Given the description of an element on the screen output the (x, y) to click on. 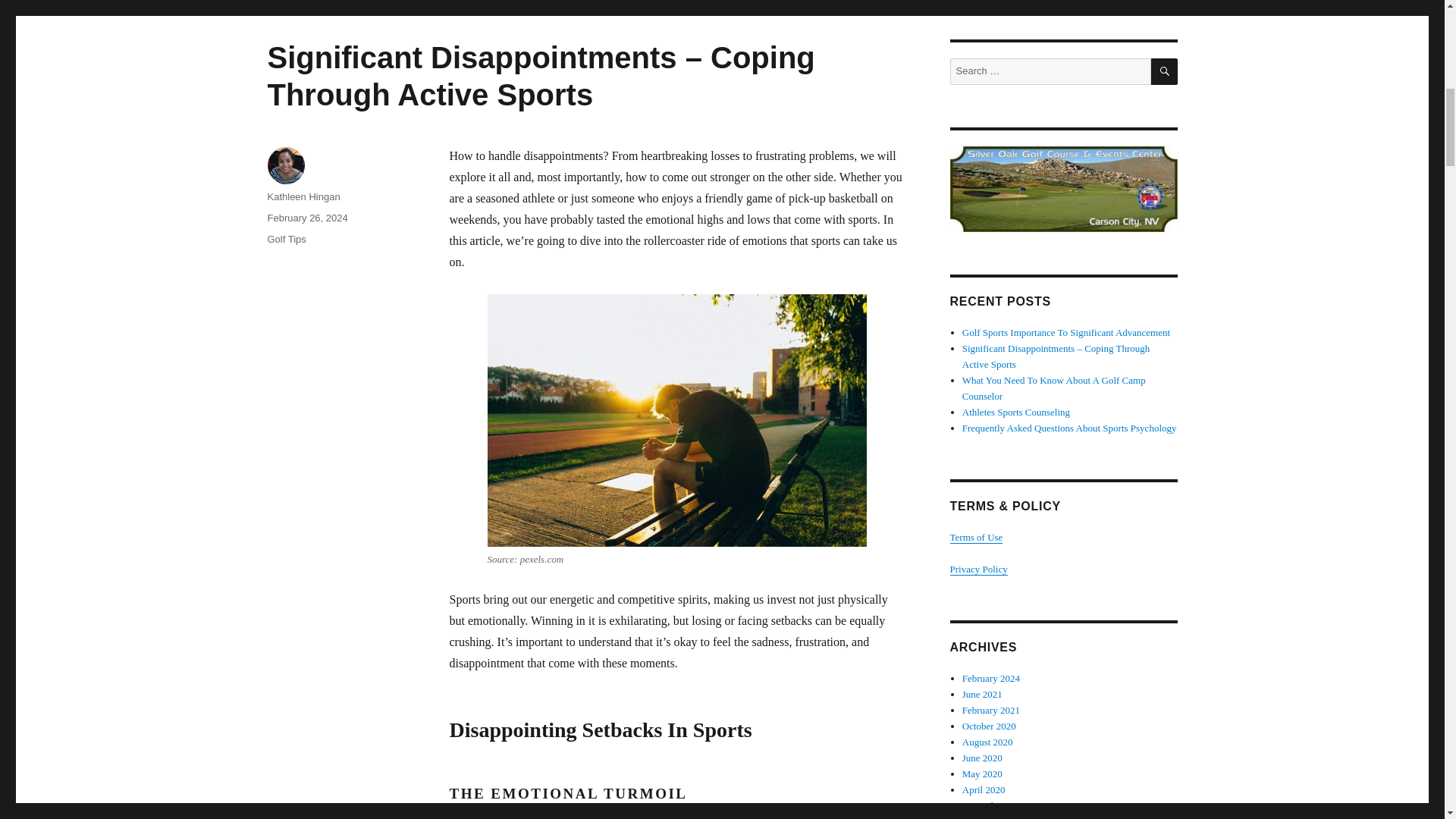
February 2021 (991, 709)
Frequently Asked Questions About Sports Psychology (1069, 428)
October 2020 (989, 726)
May 2020 (982, 773)
June 2020 (982, 757)
Athletes Sports Counseling (1016, 411)
August 2020 (987, 741)
February 2024 (991, 677)
Golf Sports Importance To Significant Advancement (1066, 332)
February 26, 2024 (306, 217)
